Given the description of an element on the screen output the (x, y) to click on. 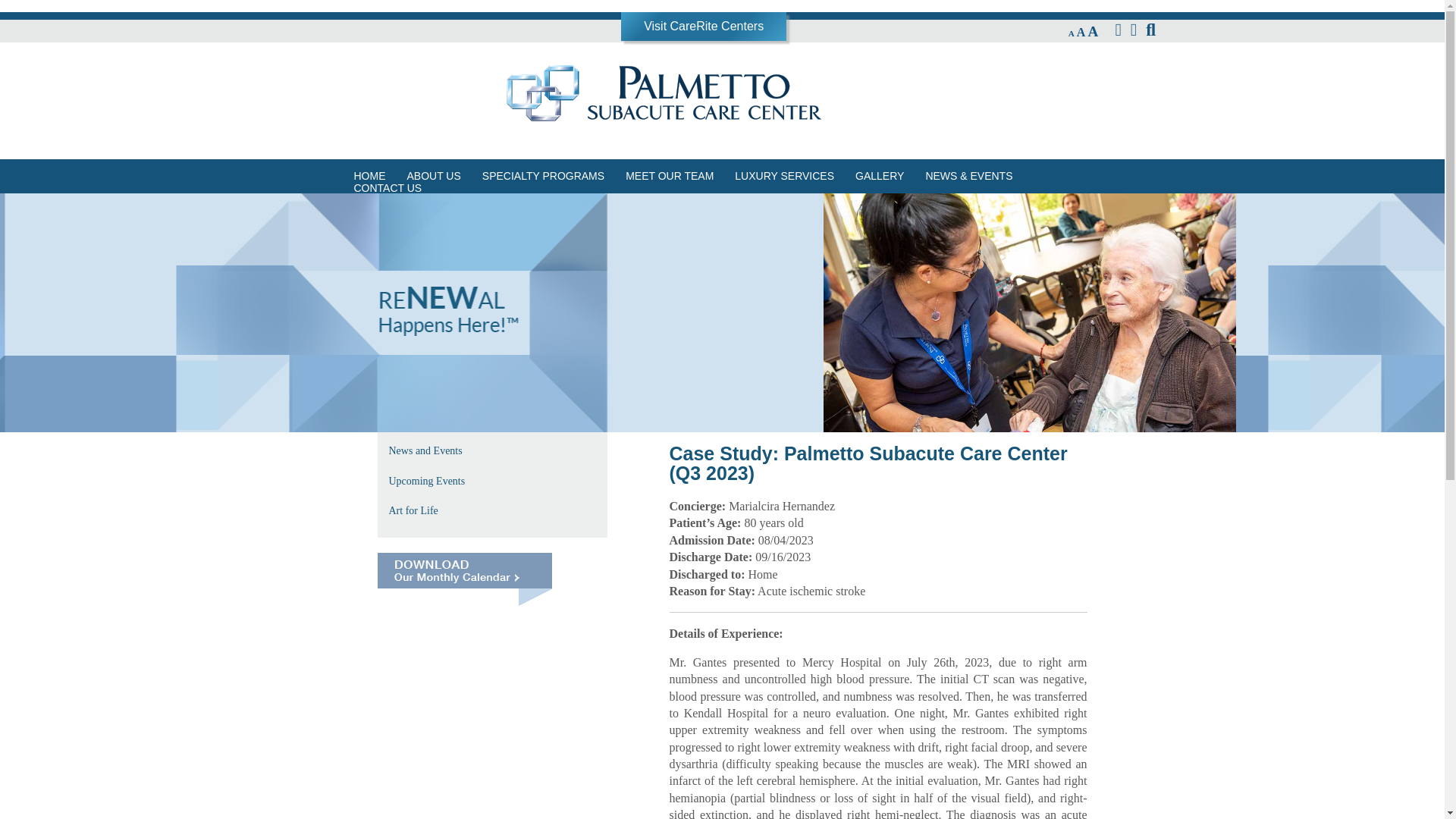
GALLERY (879, 176)
MEET OUR TEAM (668, 176)
LUXURY SERVICES (783, 176)
HOME (369, 176)
ABOUT US (433, 176)
SPECIALTY PROGRAMS (542, 176)
Visit CareRite Centers (702, 25)
